Given the description of an element on the screen output the (x, y) to click on. 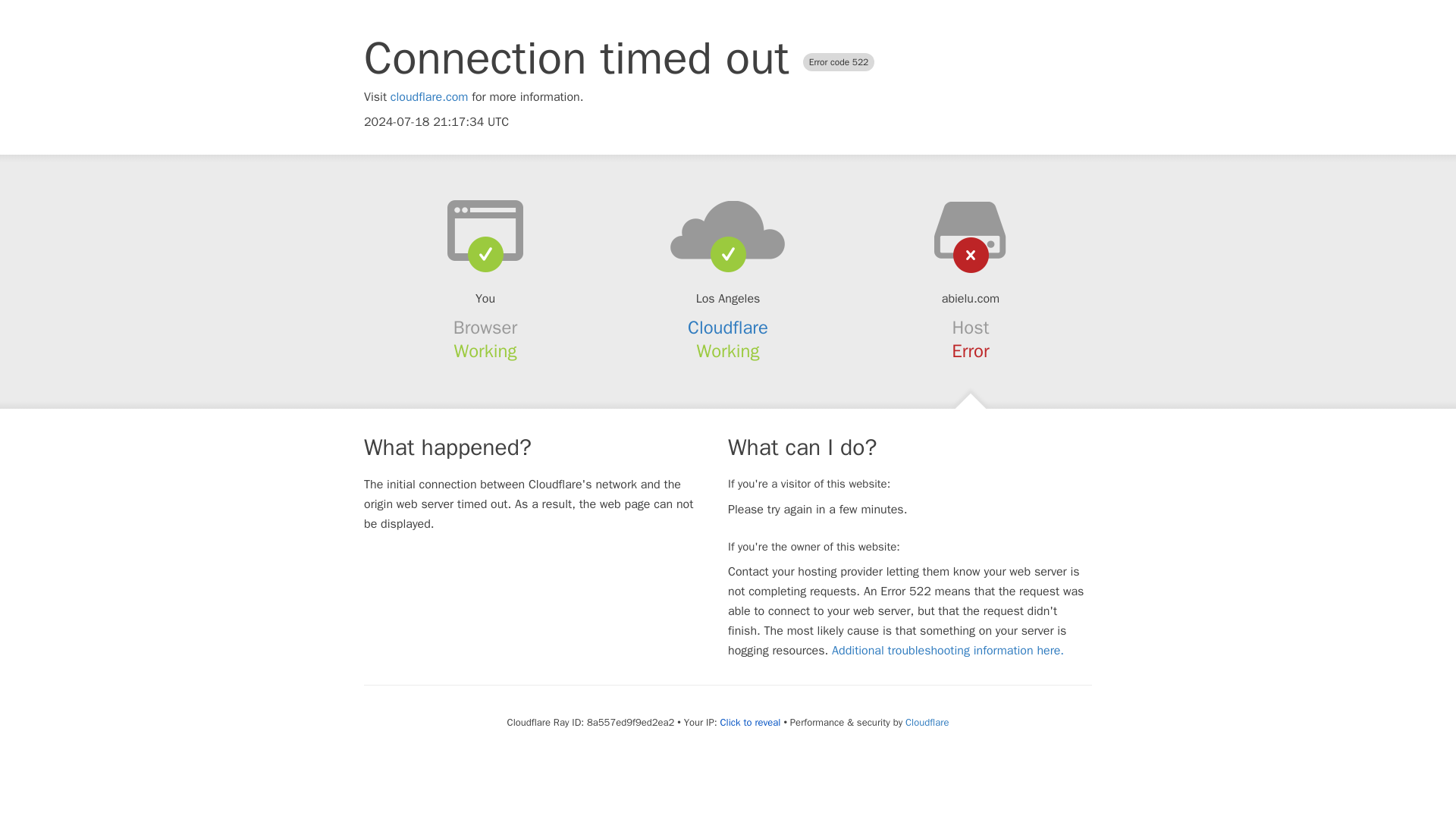
Click to reveal (750, 722)
Cloudflare (727, 327)
Cloudflare (927, 721)
Additional troubleshooting information here. (947, 650)
cloudflare.com (429, 96)
